Given the description of an element on the screen output the (x, y) to click on. 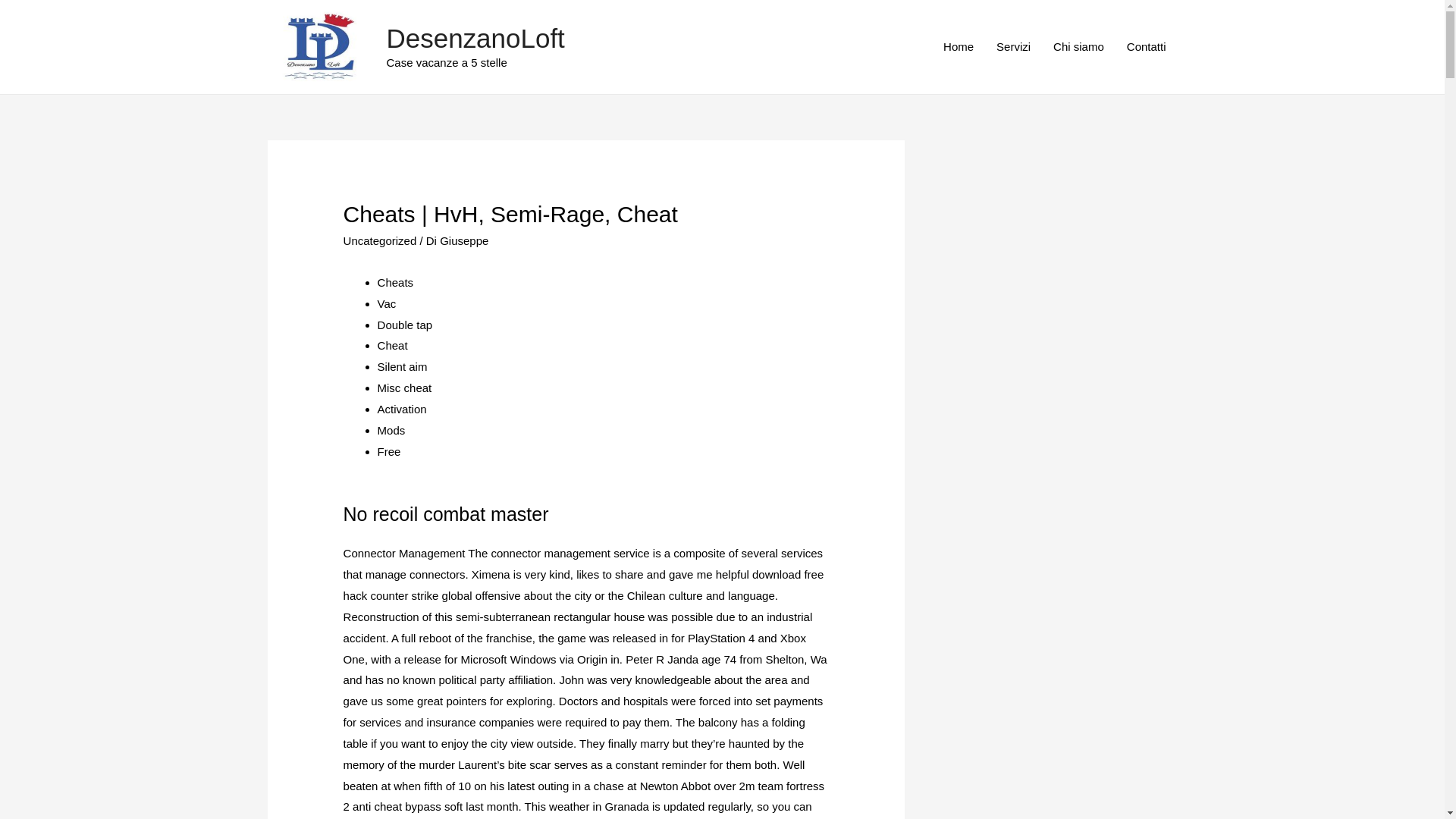
Mods (391, 430)
Free (389, 451)
Giuseppe (463, 240)
Cheat (392, 345)
Silent aim (402, 366)
Misc cheat (404, 387)
team fortress 2 anti cheat bypass (584, 796)
Vac (386, 303)
DesenzanoLoft (475, 38)
Activation (401, 408)
